Given the description of an element on the screen output the (x, y) to click on. 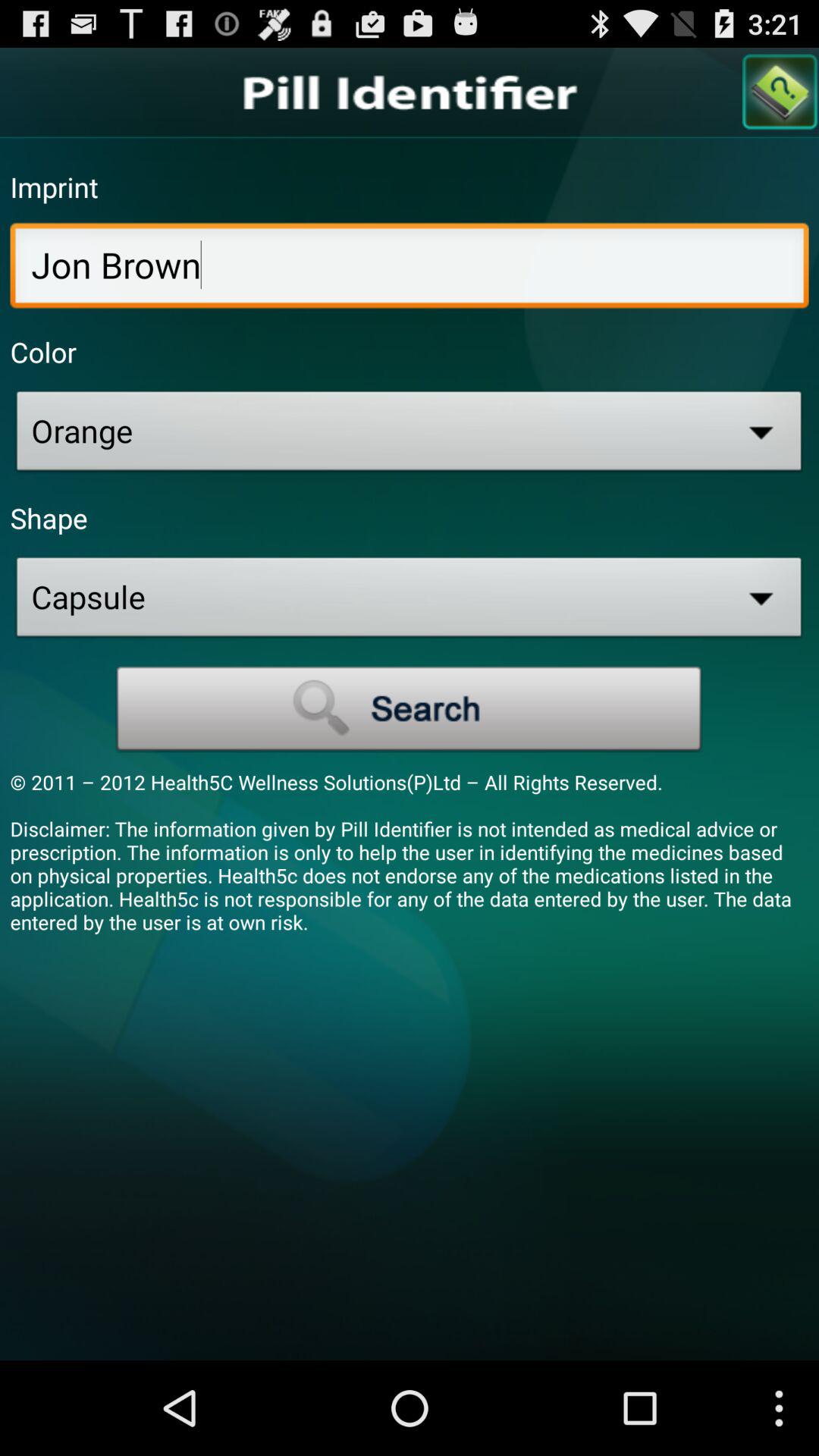
query option (780, 92)
